Given the description of an element on the screen output the (x, y) to click on. 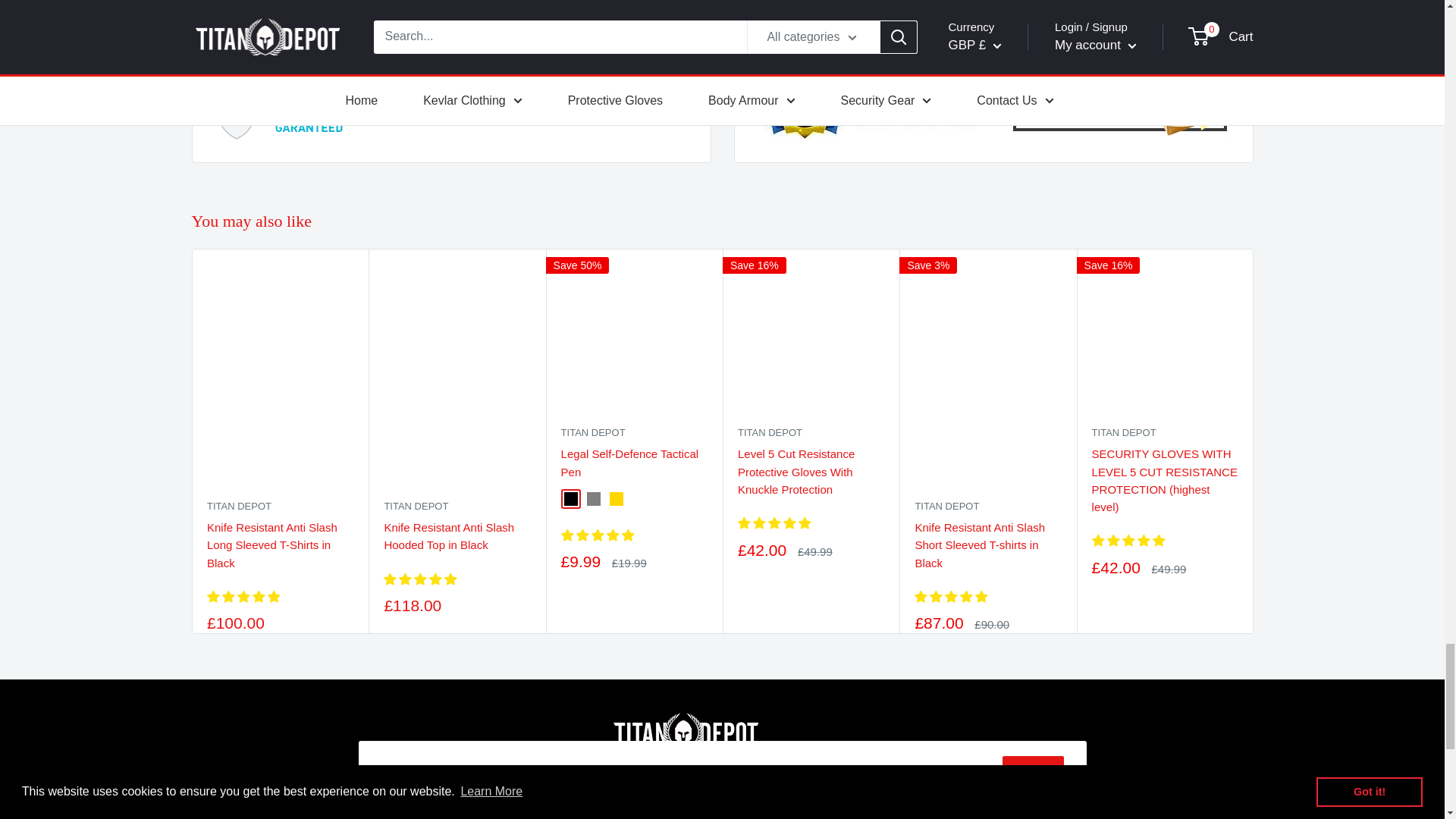
Gold (615, 499)
Gray (592, 499)
Black (569, 499)
